Given the description of an element on the screen output the (x, y) to click on. 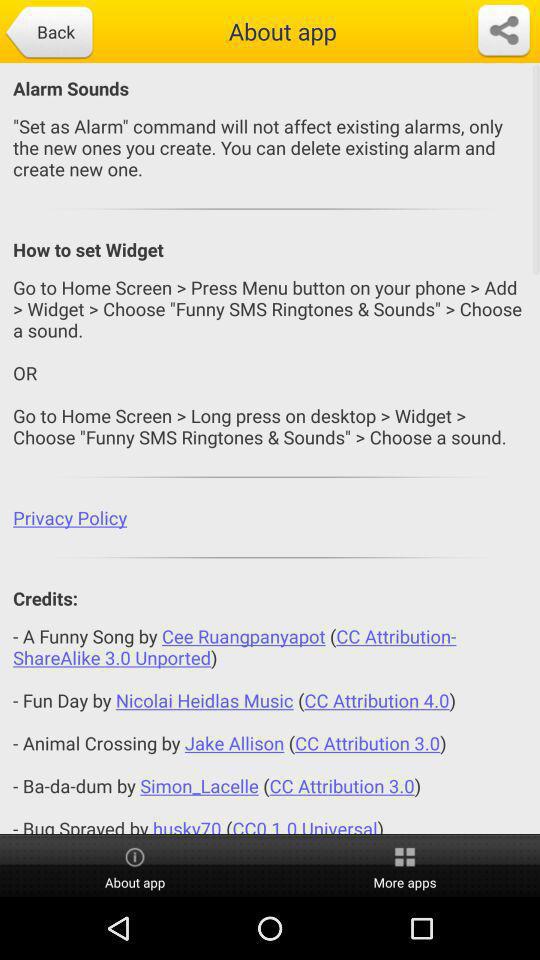
tap the back button (48, 33)
